Given the description of an element on the screen output the (x, y) to click on. 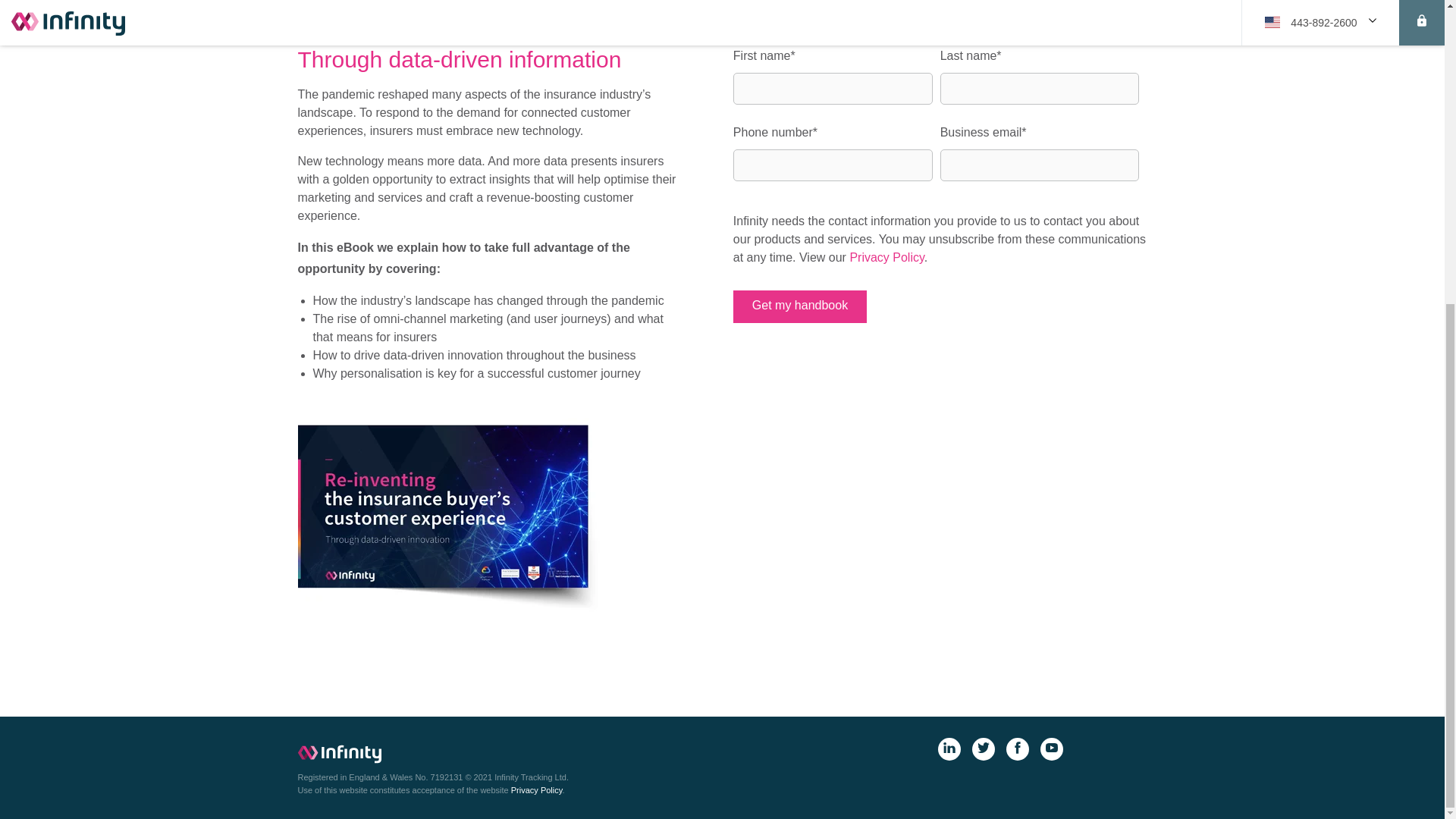
Privacy Policy (885, 256)
Get my handbook (799, 306)
Get my handbook (799, 306)
Privacy Policy (536, 789)
